Given the description of an element on the screen output the (x, y) to click on. 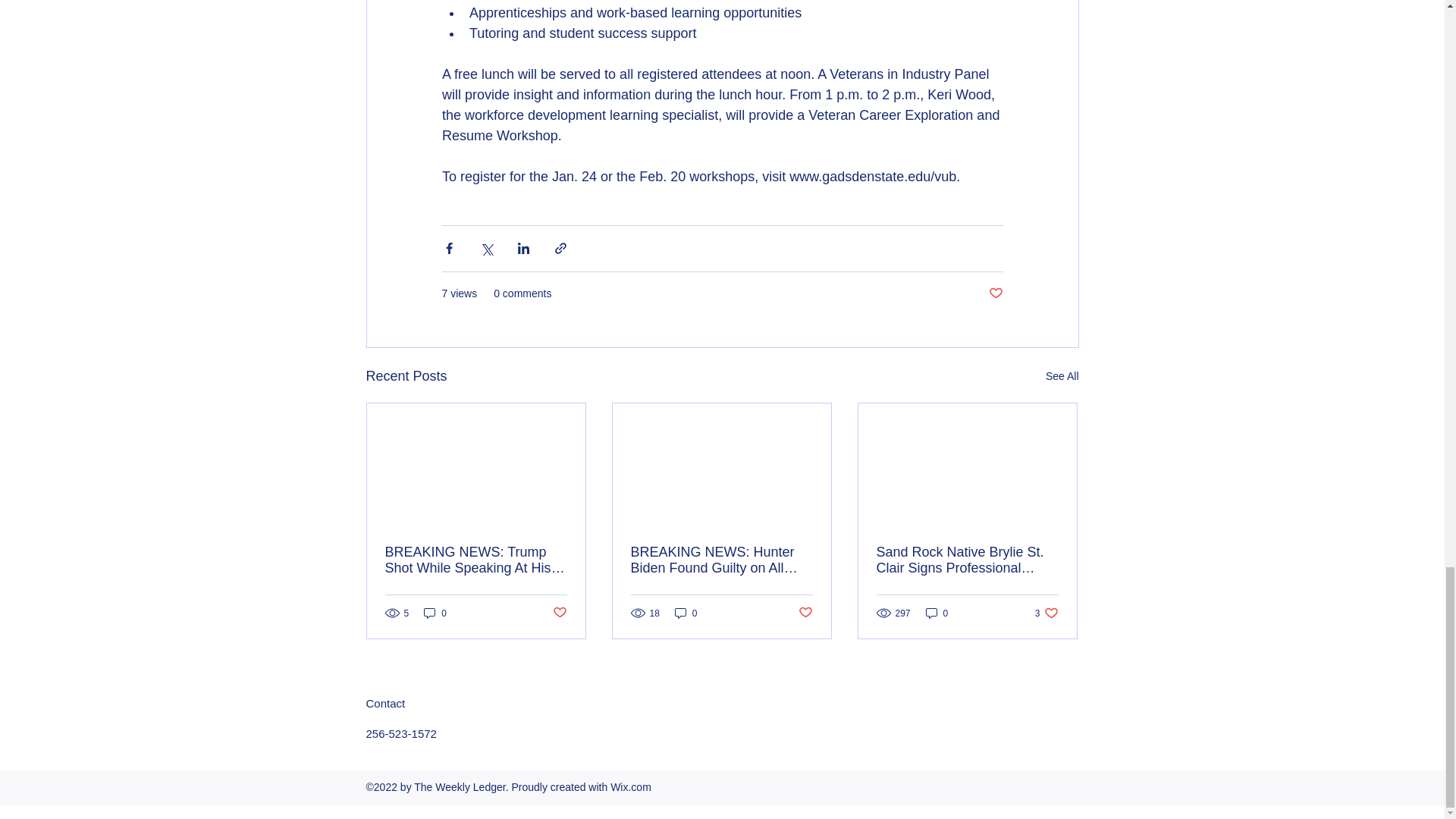
0 (937, 612)
0 (685, 612)
0 (435, 612)
Post not marked as liked (804, 612)
Post not marked as liked (1046, 612)
Post not marked as liked (558, 612)
See All (995, 293)
